Given the description of an element on the screen output the (x, y) to click on. 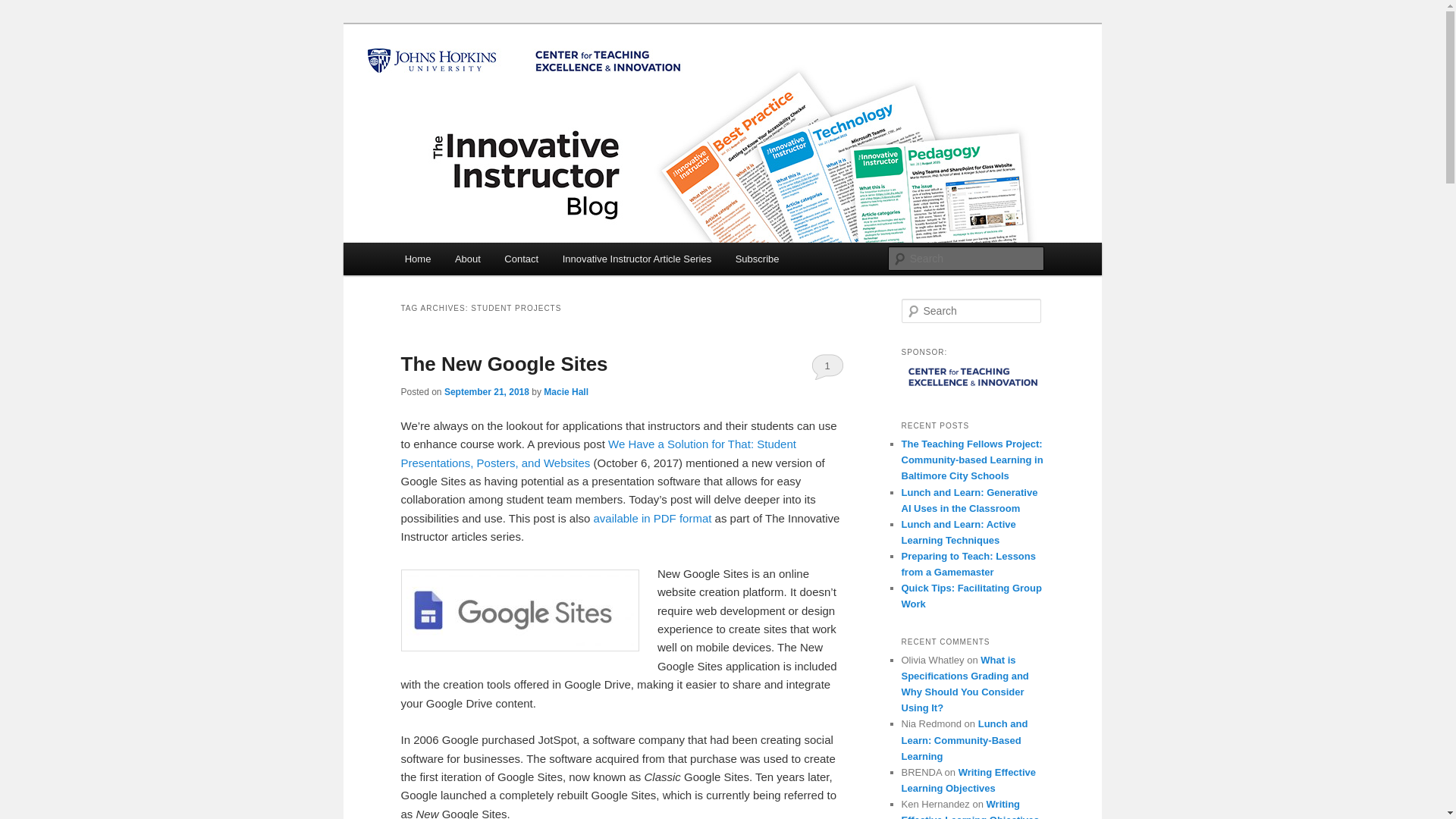
Lunch and Learn: Community-Based Learning (964, 739)
Preparing to Teach: Lessons from a Gamemaster (968, 564)
Search (24, 8)
Contact (521, 258)
View all posts by Macie Hall (565, 391)
available in PDF format (652, 517)
1 (827, 366)
About (467, 258)
Home (417, 258)
Subscribe (756, 258)
Macie Hall (565, 391)
Lunch and Learn: Generative AI Uses in the Classroom (968, 500)
September 21, 2018 (486, 391)
